Given the description of an element on the screen output the (x, y) to click on. 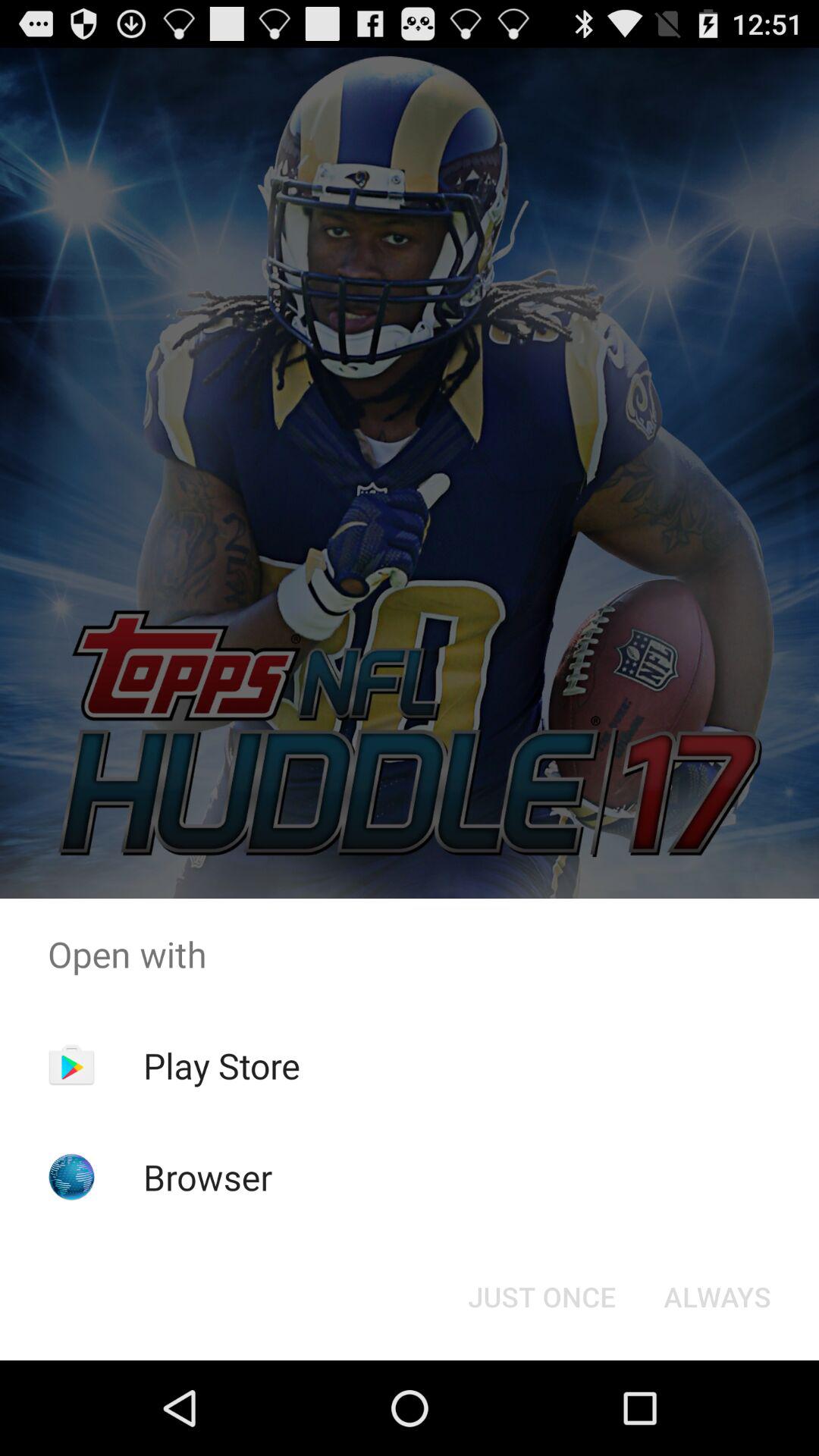
tap icon at the bottom right corner (717, 1296)
